Given the description of an element on the screen output the (x, y) to click on. 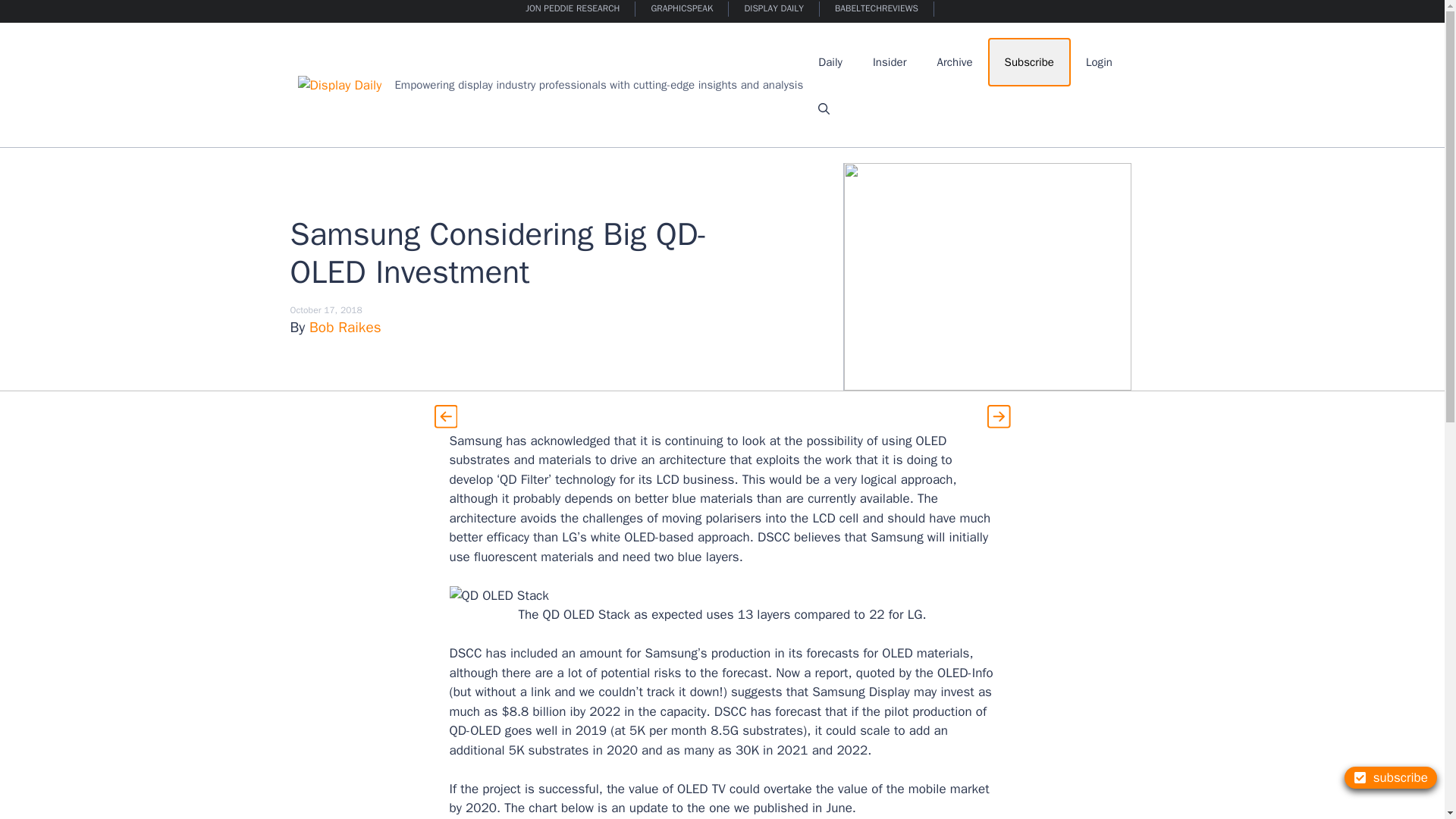
Subscribe (1029, 62)
BABELTECHREVIEWS (876, 8)
Bob Raikes (344, 327)
subscribe (1390, 776)
Login (1098, 62)
Daily (830, 62)
subscribe (1390, 776)
DISPLAY DAILY (773, 8)
Insider (889, 62)
GRAPHICSPEAK (681, 8)
